Given the description of an element on the screen output the (x, y) to click on. 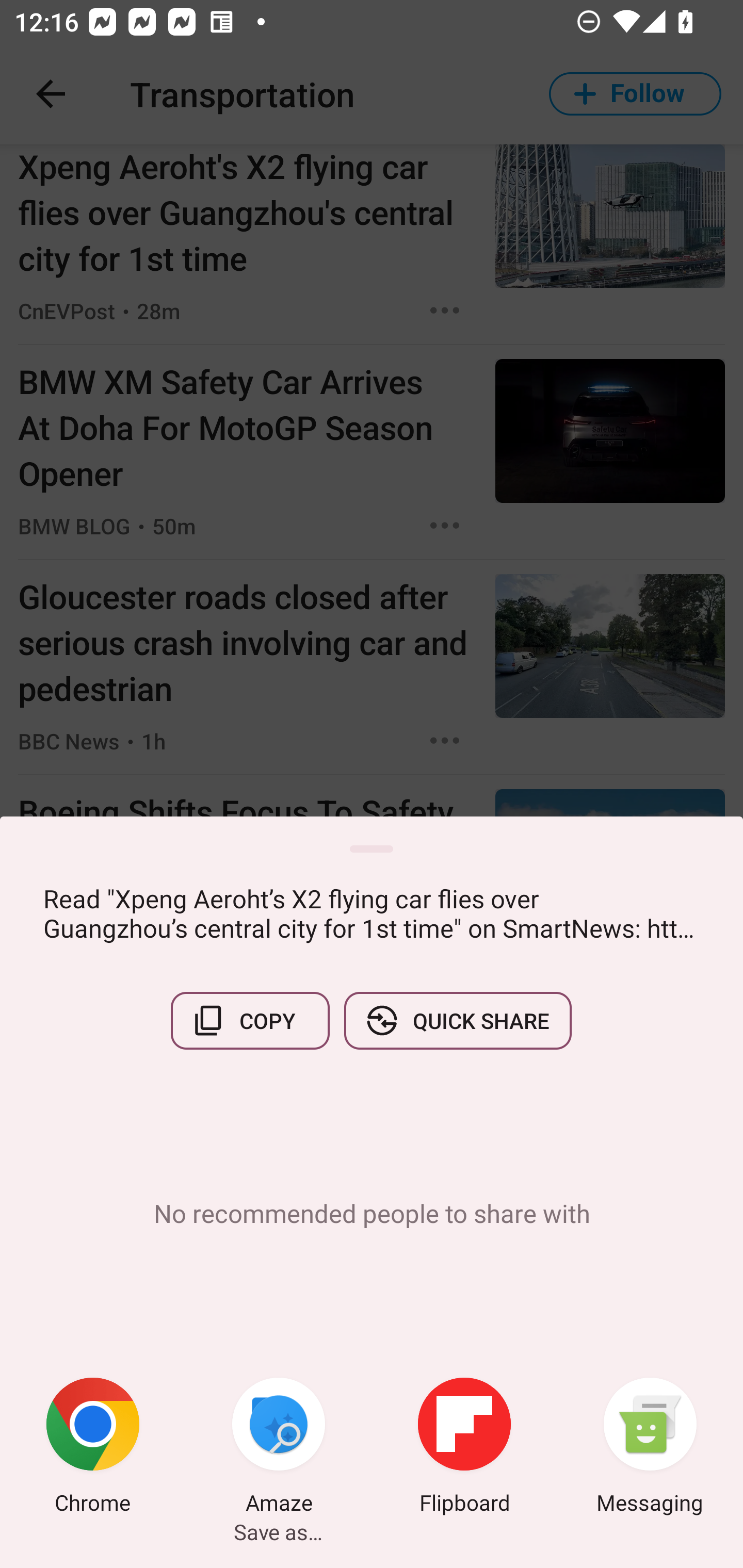
COPY (249, 1020)
QUICK SHARE (457, 1020)
Chrome (92, 1448)
Amaze Save as… (278, 1448)
Flipboard (464, 1448)
Messaging (650, 1448)
